Given the description of an element on the screen output the (x, y) to click on. 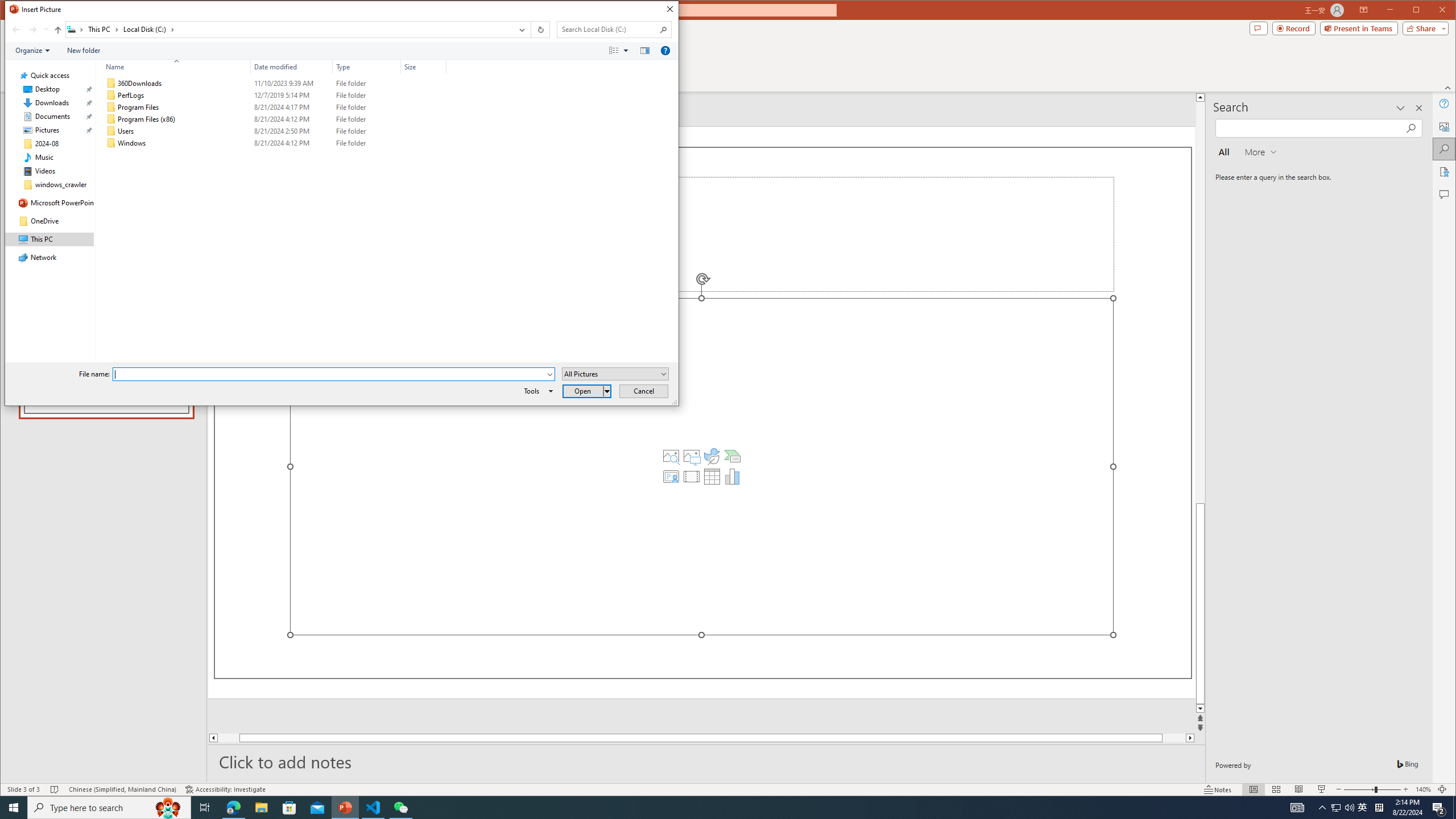
Forward (Alt + Right Arrow) (33, 29)
File name: (333, 373)
Up to "This PC" (Alt + Up Arrow) (57, 29)
Address: C:\ (288, 29)
All locations (75, 29)
Tools (536, 390)
Date modified (291, 66)
